Given the description of an element on the screen output the (x, y) to click on. 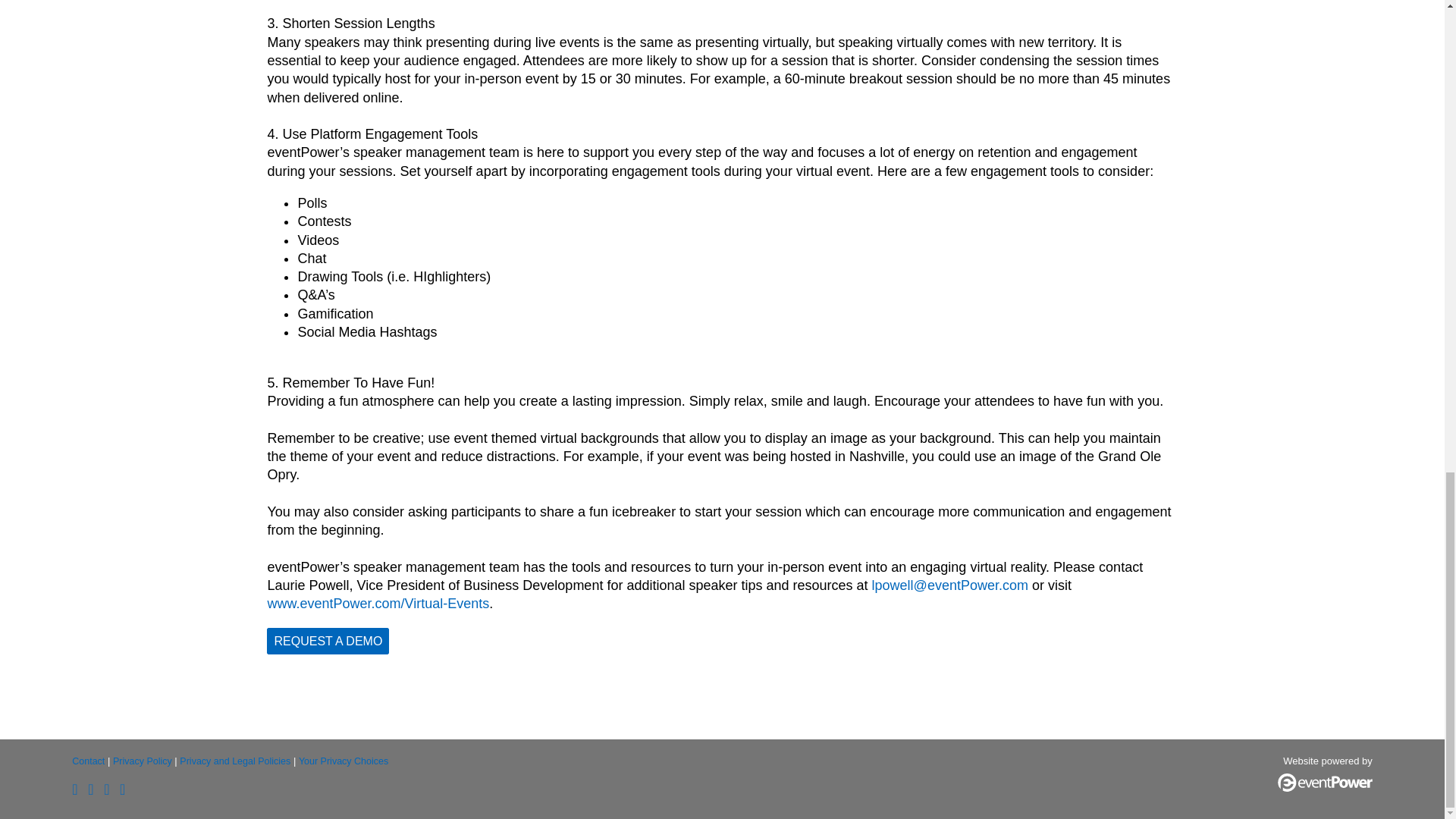
Go to eventPower Facebook Page (93, 791)
Go to Personal Data Requests Page (343, 760)
Contact (87, 760)
Go to Privacy Policy Page (142, 760)
Privacy and Legal Policies (234, 760)
Go to eventPower LinkedIn Page (109, 791)
Your Privacy Choices (343, 760)
Go to Contact Us Page (87, 760)
REQUEST A DEMO (327, 641)
Privacy Policy (142, 760)
